Given the description of an element on the screen output the (x, y) to click on. 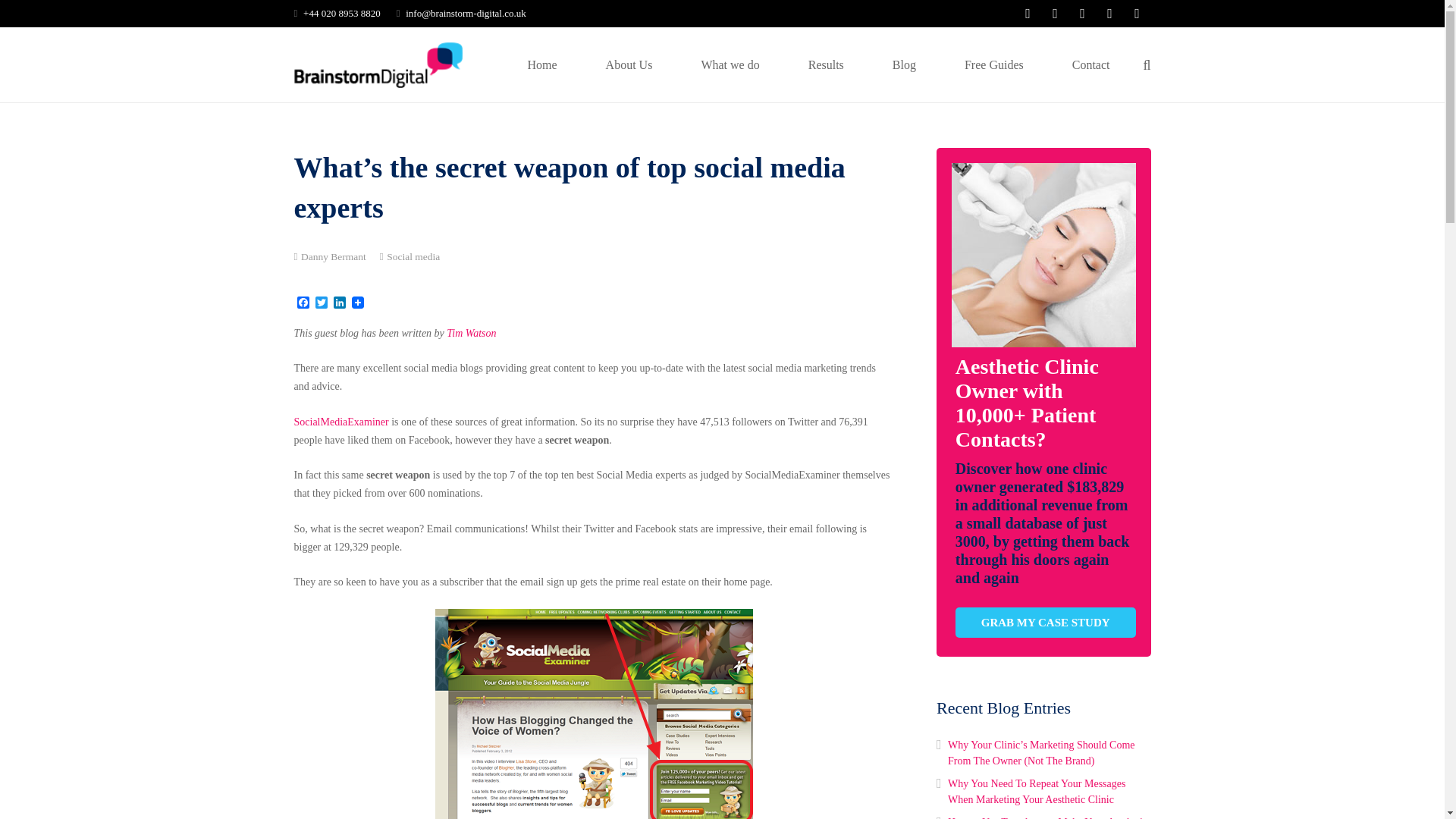
LinkedIn (339, 303)
LinkedIn (339, 303)
Results (825, 64)
Twitter (321, 303)
Blog (903, 64)
Social media (413, 256)
About Us (628, 64)
Danny Bermant (333, 256)
What we do (730, 64)
Facebook (303, 303)
Free Guides (994, 64)
SocialMediaExaminer (341, 421)
Social Media Examiner (593, 714)
Tim Watson (471, 333)
Contact (1091, 64)
